Given the description of an element on the screen output the (x, y) to click on. 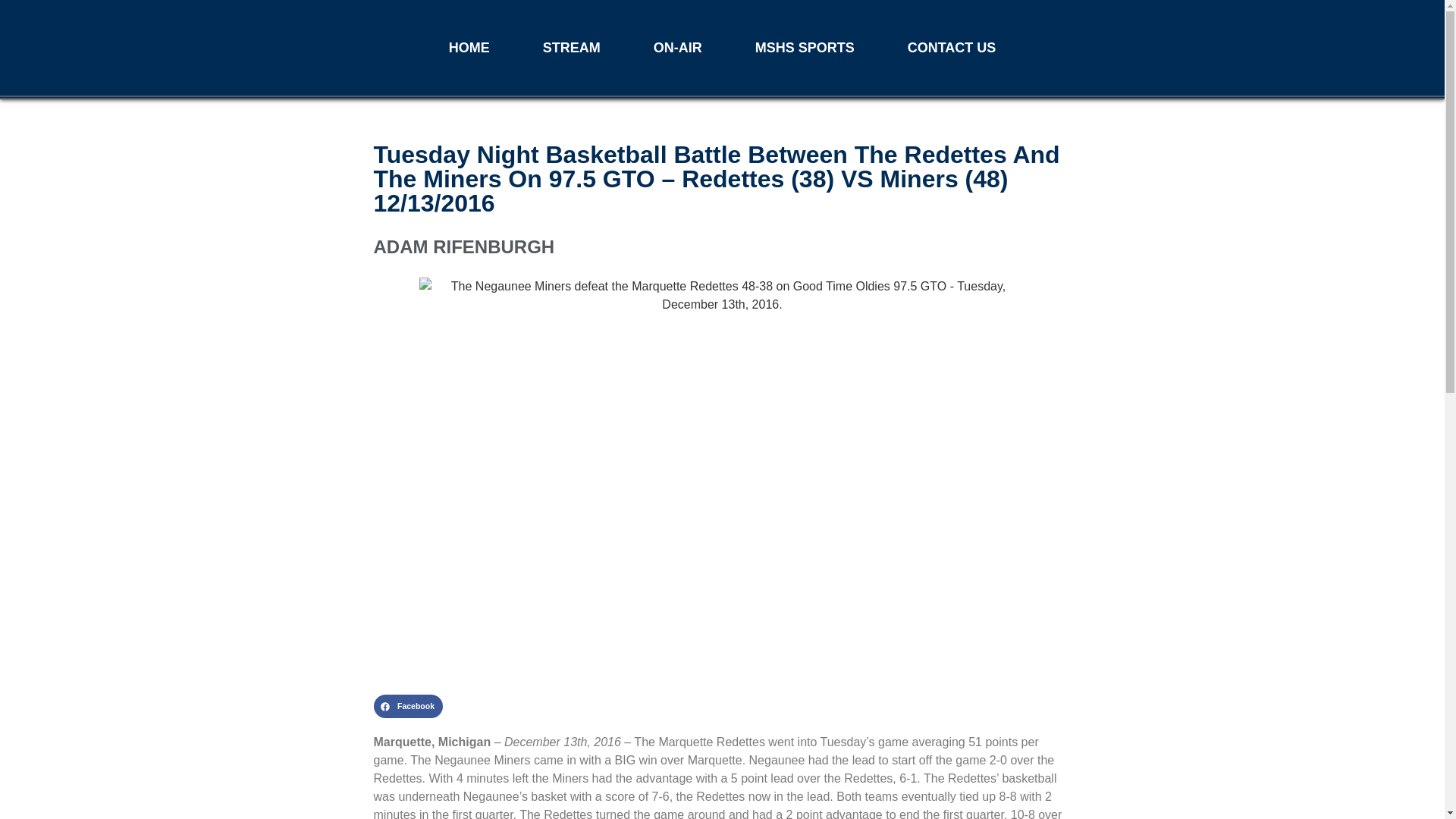
STREAM (571, 47)
ON-AIR (678, 47)
CONTACT US (951, 47)
HOME (469, 47)
ADAM RIFENBURGH (721, 247)
MSHS SPORTS (804, 47)
